Given the description of an element on the screen output the (x, y) to click on. 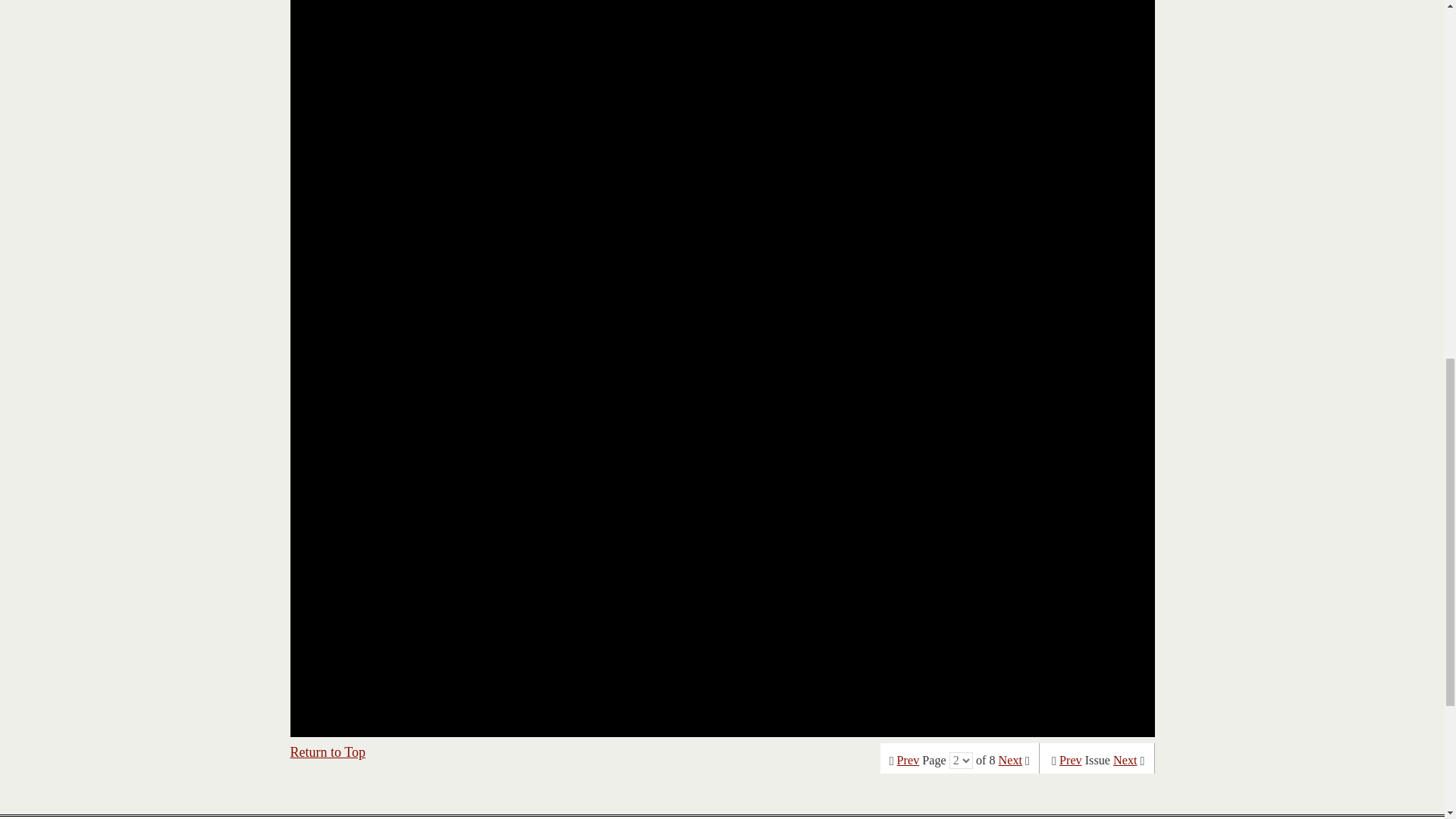
Prev (1070, 760)
Prev (908, 760)
Next (1125, 760)
Return to Top (327, 752)
Next (1010, 760)
